Given the description of an element on the screen output the (x, y) to click on. 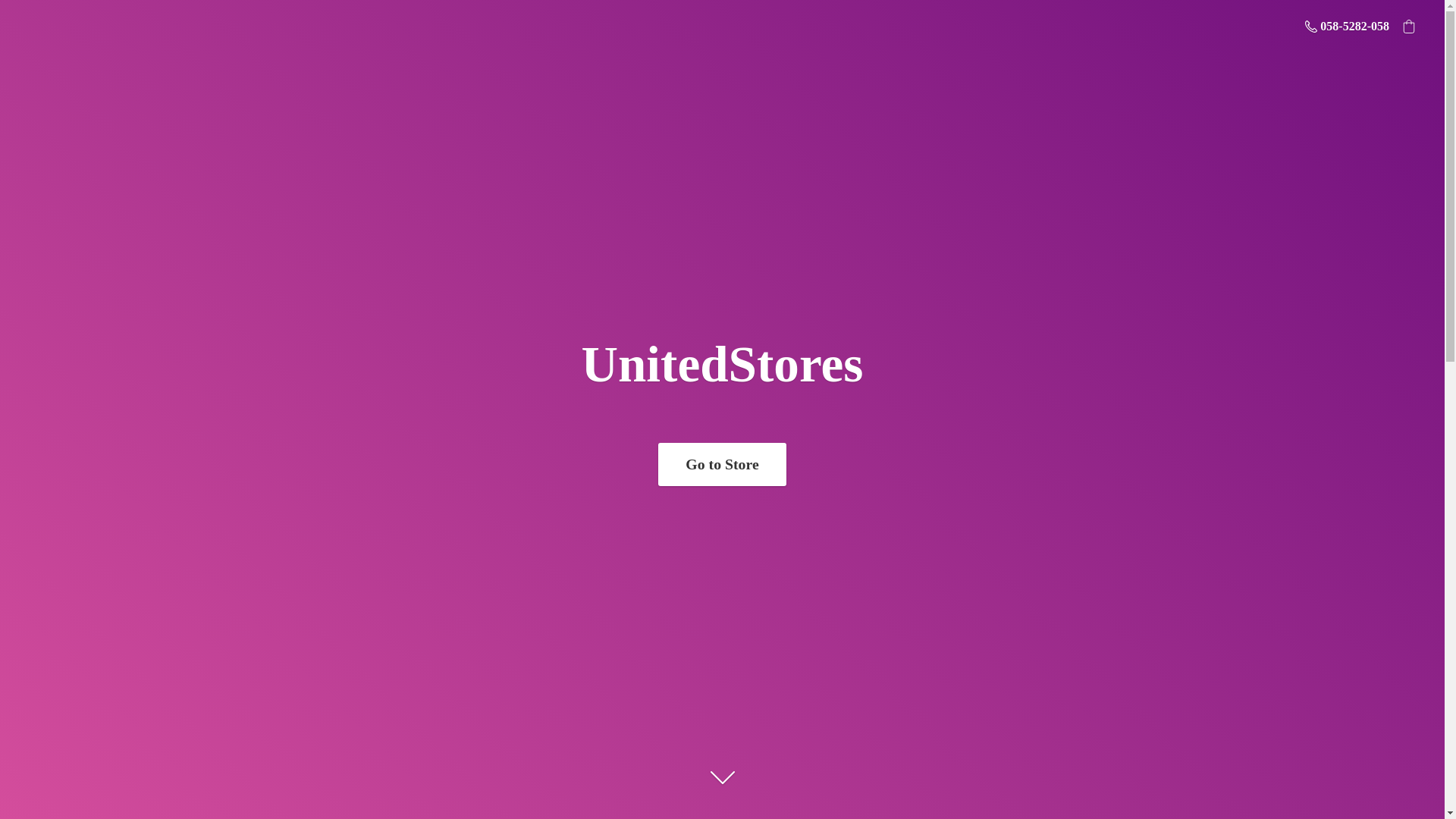
Go to Store (722, 464)
058-5282-058 (1346, 26)
